Given the description of an element on the screen output the (x, y) to click on. 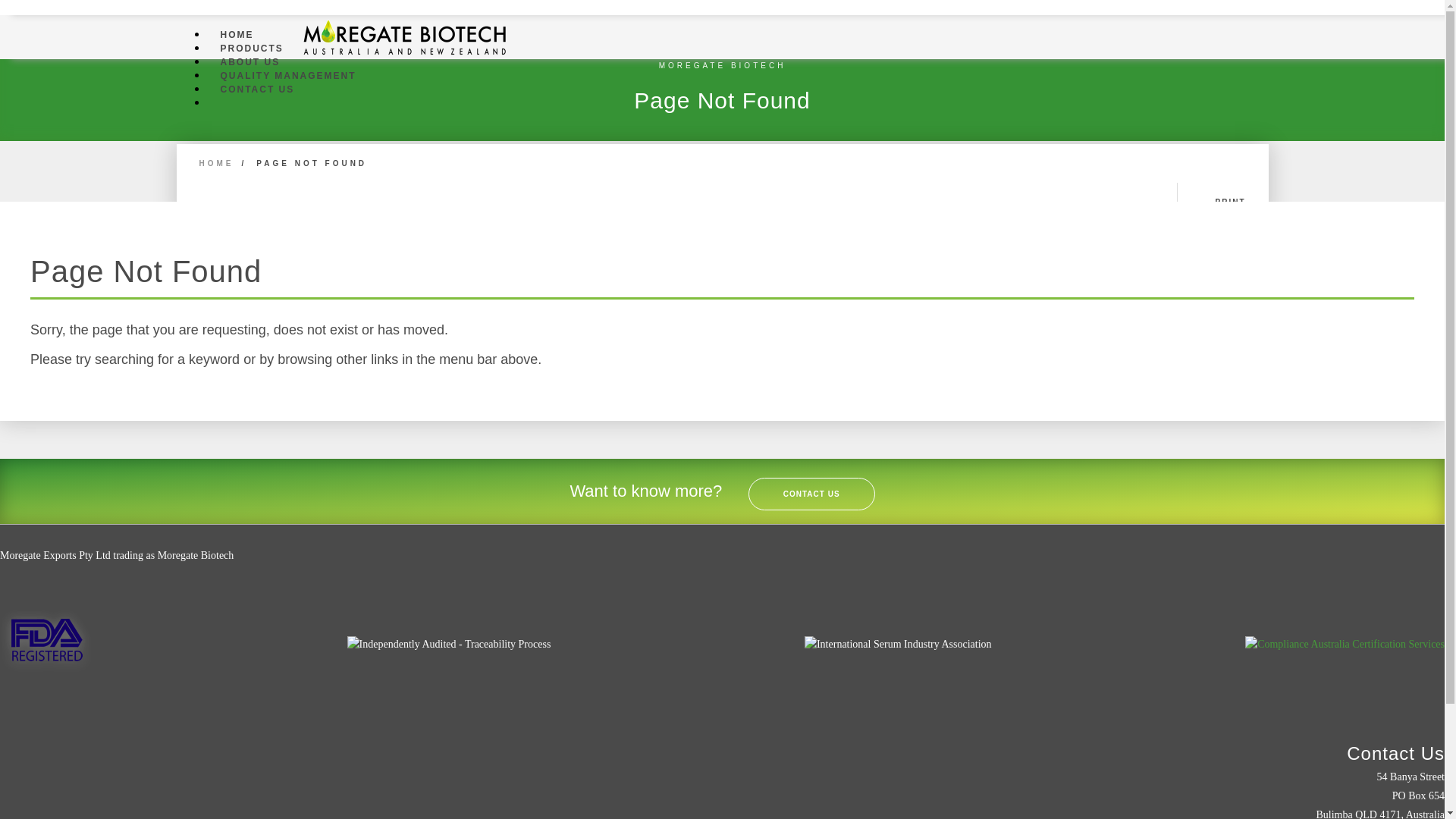
HOME Element type: text (236, 34)
QUALITY MANAGEMENT Element type: text (287, 75)
ABOUT US Element type: text (249, 61)
HOME Element type: text (215, 163)
  PRINT Element type: text (1222, 201)
FDA Registered Element type: hover (46, 641)
PAGE NOT FOUND Element type: text (311, 163)
International Serum Industry Association Element type: hover (897, 644)
Independently Audited - Traceability Process Element type: hover (449, 644)
CONTACT US Element type: text (256, 89)
Compliance Australia Certification Services Element type: hover (1344, 644)
PRODUCTS Element type: text (251, 48)
CONTACT US Element type: text (811, 493)
